Given the description of an element on the screen output the (x, y) to click on. 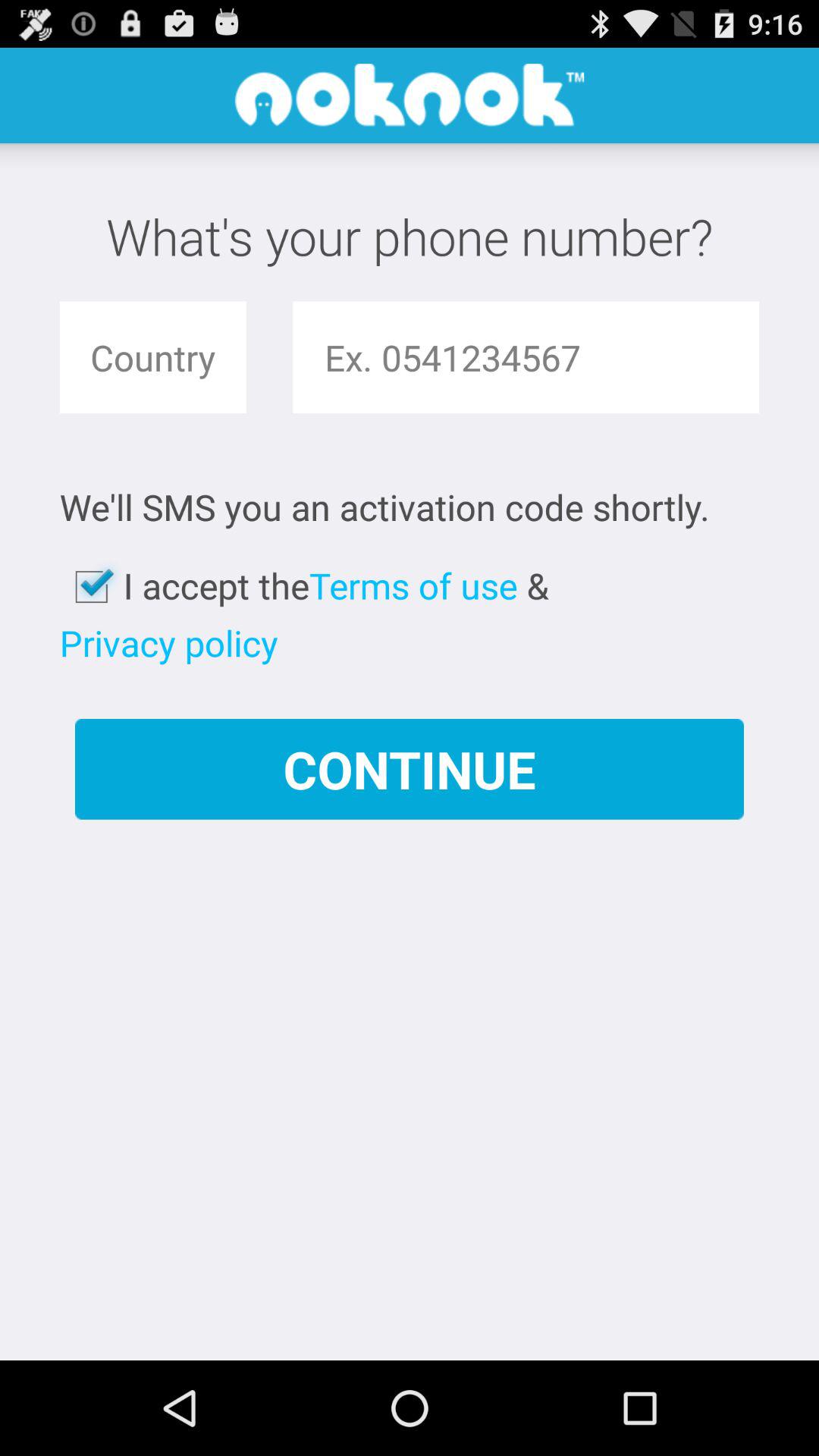
choose the icon to the right of i accept the (413, 585)
